Given the description of an element on the screen output the (x, y) to click on. 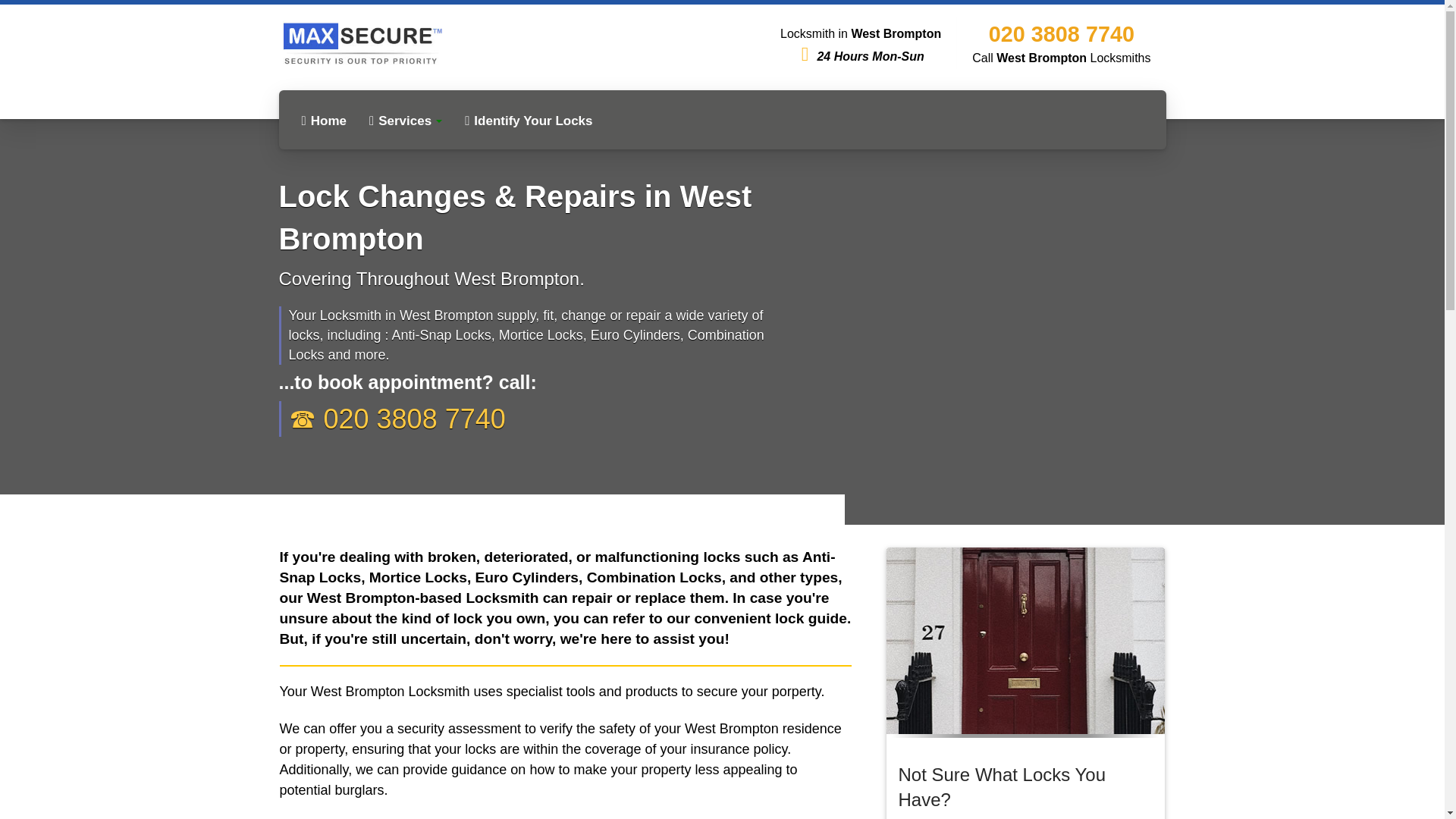
Locksmith in West Brompton (322, 121)
020 3808 7740 (1061, 33)
Services (405, 121)
Identify Your Locks (528, 121)
Home (322, 121)
